Given the description of an element on the screen output the (x, y) to click on. 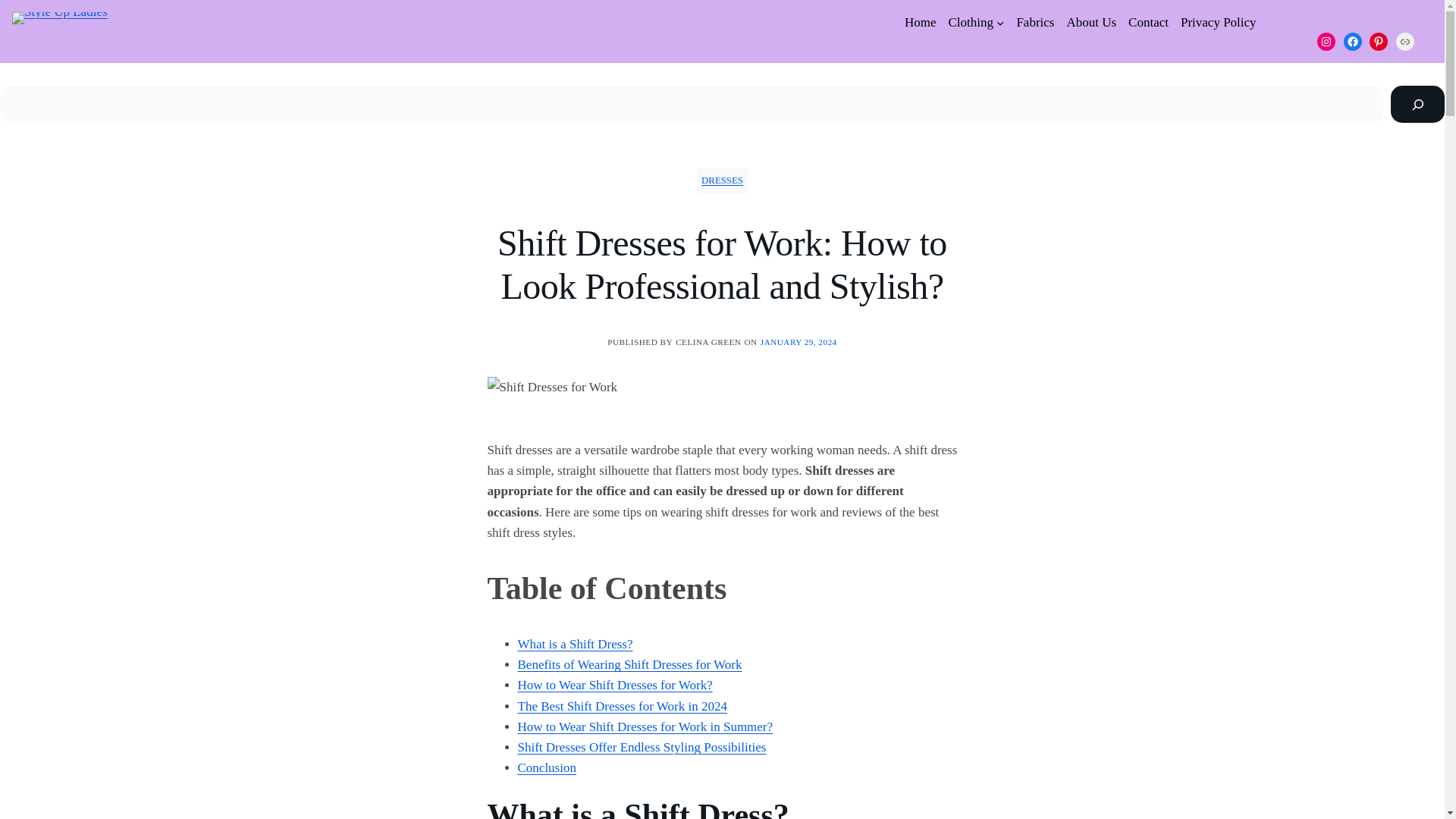
Pinterest (1378, 41)
Conclusion (545, 767)
JANUARY 29, 2024 (798, 341)
Shift Dresses Offer Endless Styling Possibilities (640, 747)
Benefits of Wearing Shift Dresses for Work (628, 664)
Home (920, 22)
DRESSES (721, 180)
What is a Shift Dress? (573, 644)
Link (1404, 41)
Facebook (1352, 41)
Privacy Policy (1218, 22)
Instagram (1326, 41)
How to Wear Shift Dresses for Work in Summer? (644, 726)
Contact (1148, 22)
How to Wear Shift Dresses for Work? (613, 685)
